Given the description of an element on the screen output the (x, y) to click on. 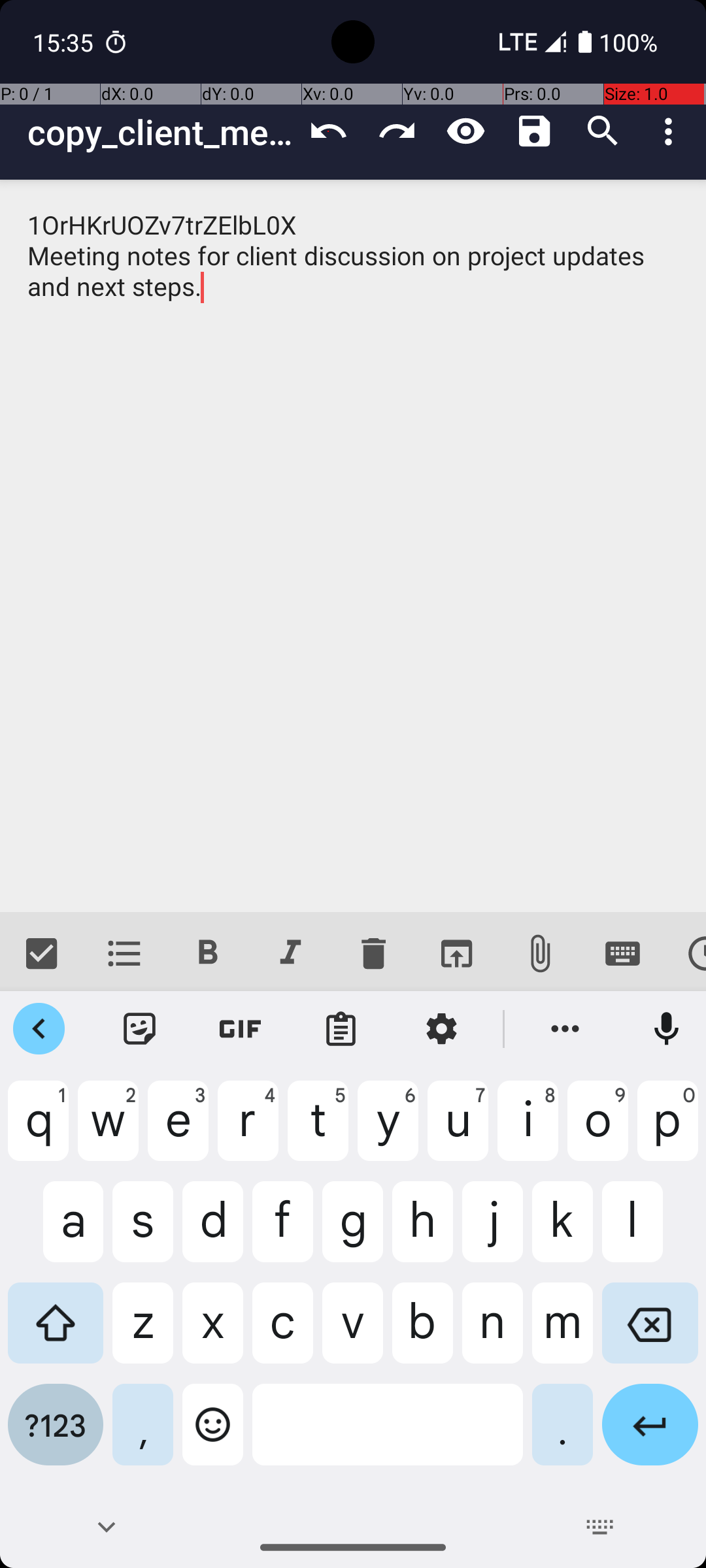
copy_client_meetings_schedule Element type: android.widget.TextView (160, 131)
1OrHKrUOZv7trZElbL0X
Meeting notes for client discussion on project updates and next steps. Element type: android.widget.EditText (353, 545)
